Given the description of an element on the screen output the (x, y) to click on. 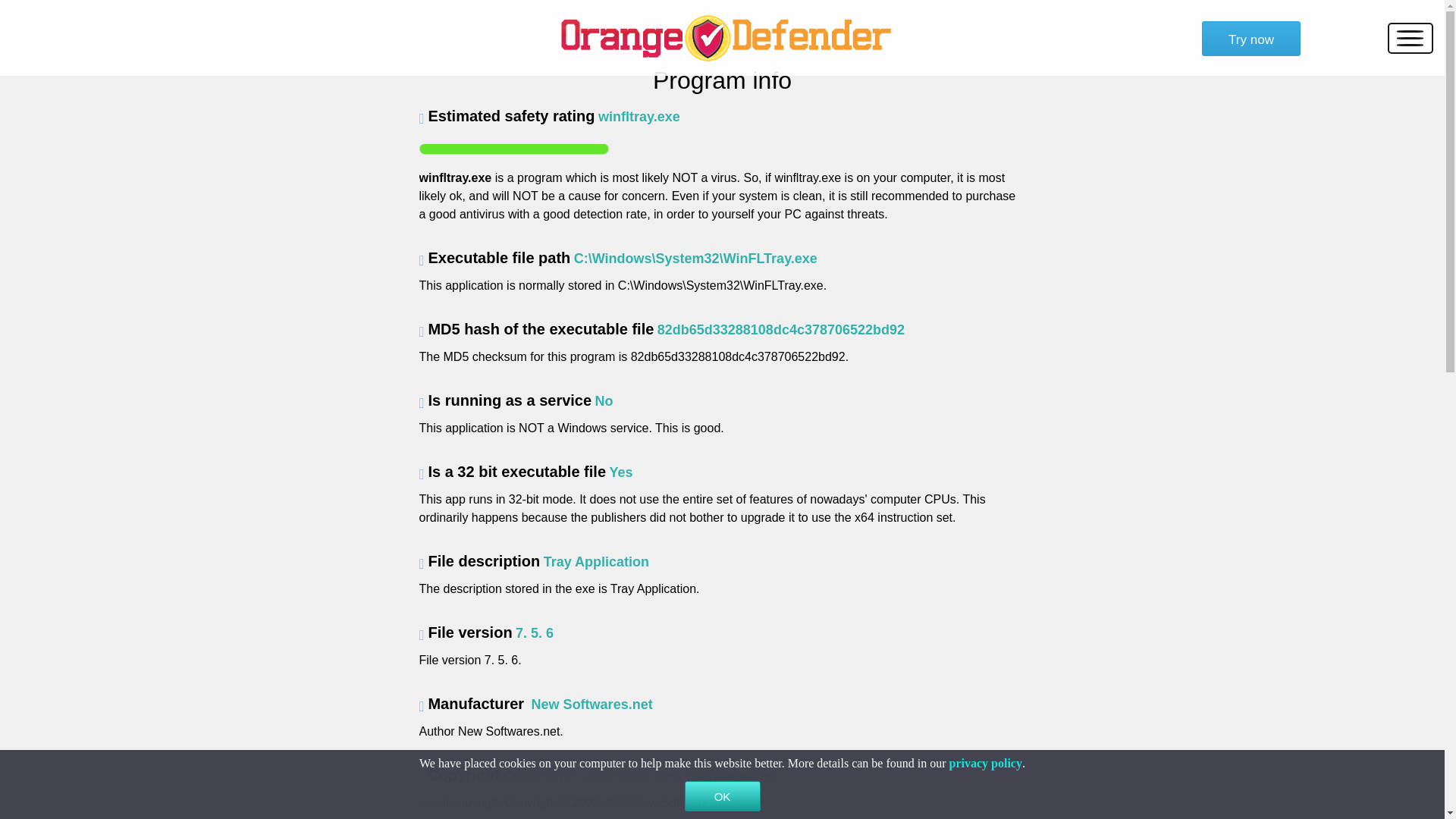
Try now (1251, 38)
privacy policy (985, 762)
OK (722, 796)
OK (722, 796)
